Given the description of an element on the screen output the (x, y) to click on. 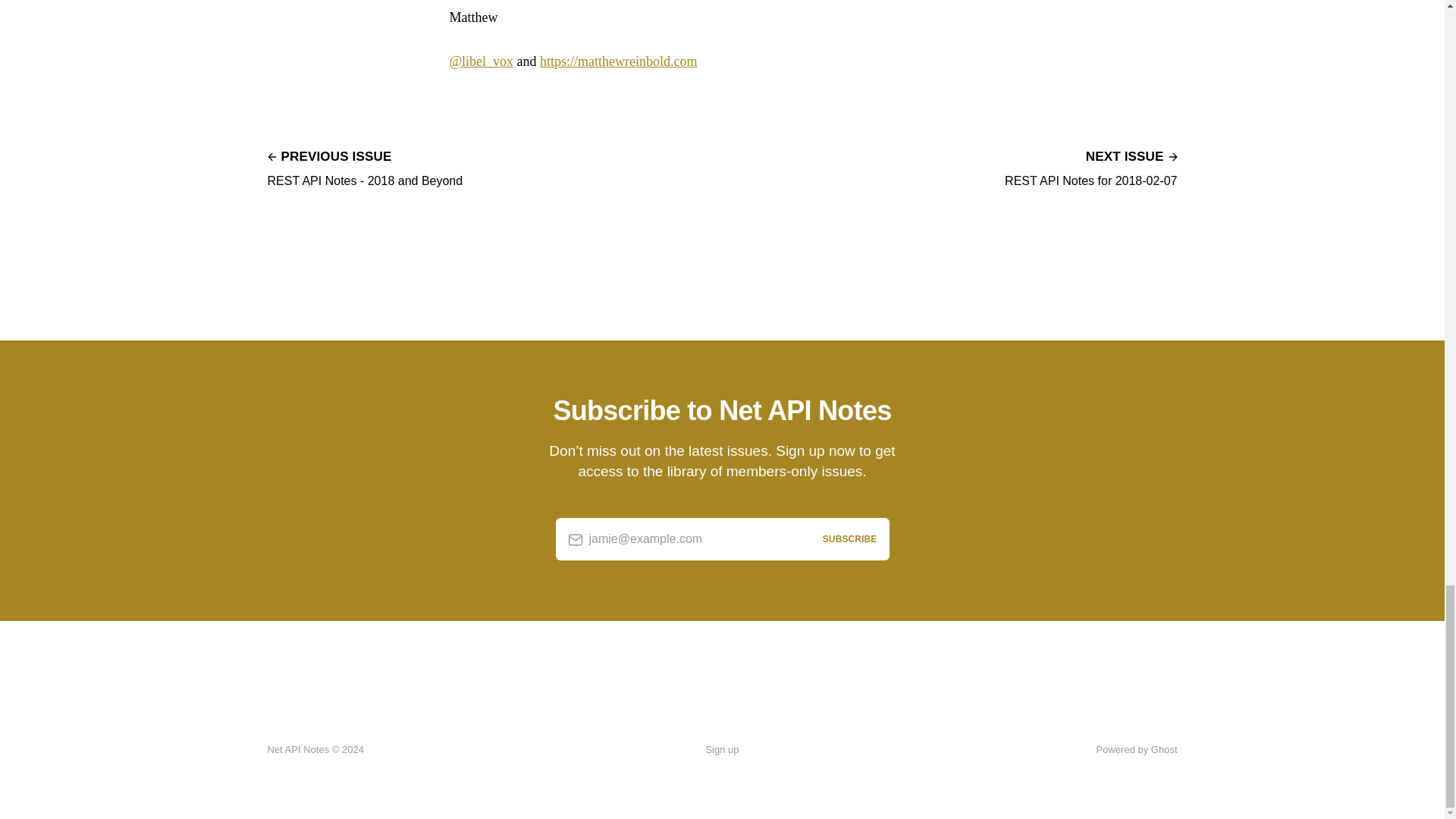
Sign up (364, 167)
Powered by Ghost (1090, 167)
